Given the description of an element on the screen output the (x, y) to click on. 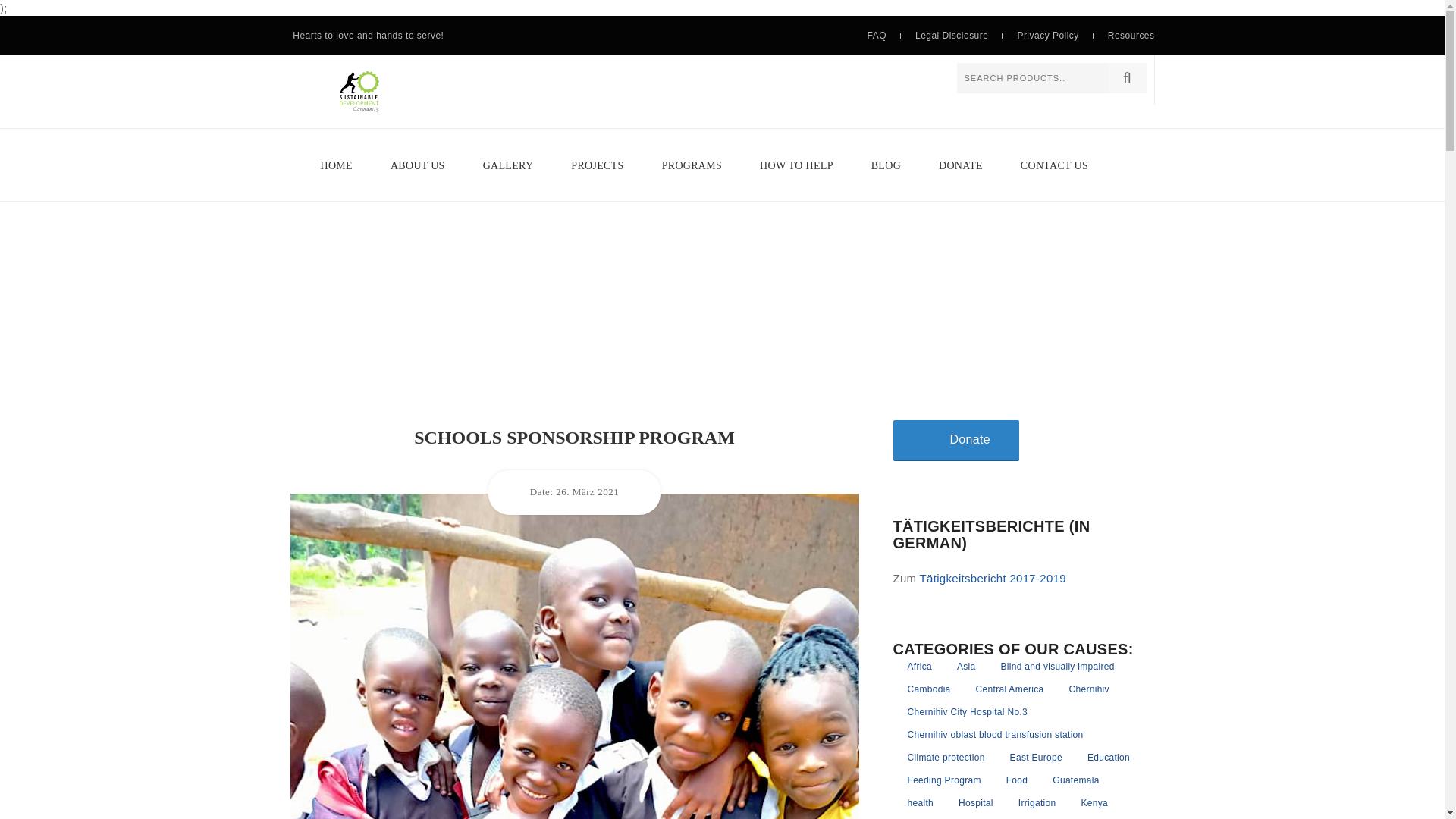
Resources (1131, 35)
FAQ (876, 35)
Legal Disclosure (951, 35)
Search (1127, 78)
Privacy Policy (1047, 35)
